Given the description of an element on the screen output the (x, y) to click on. 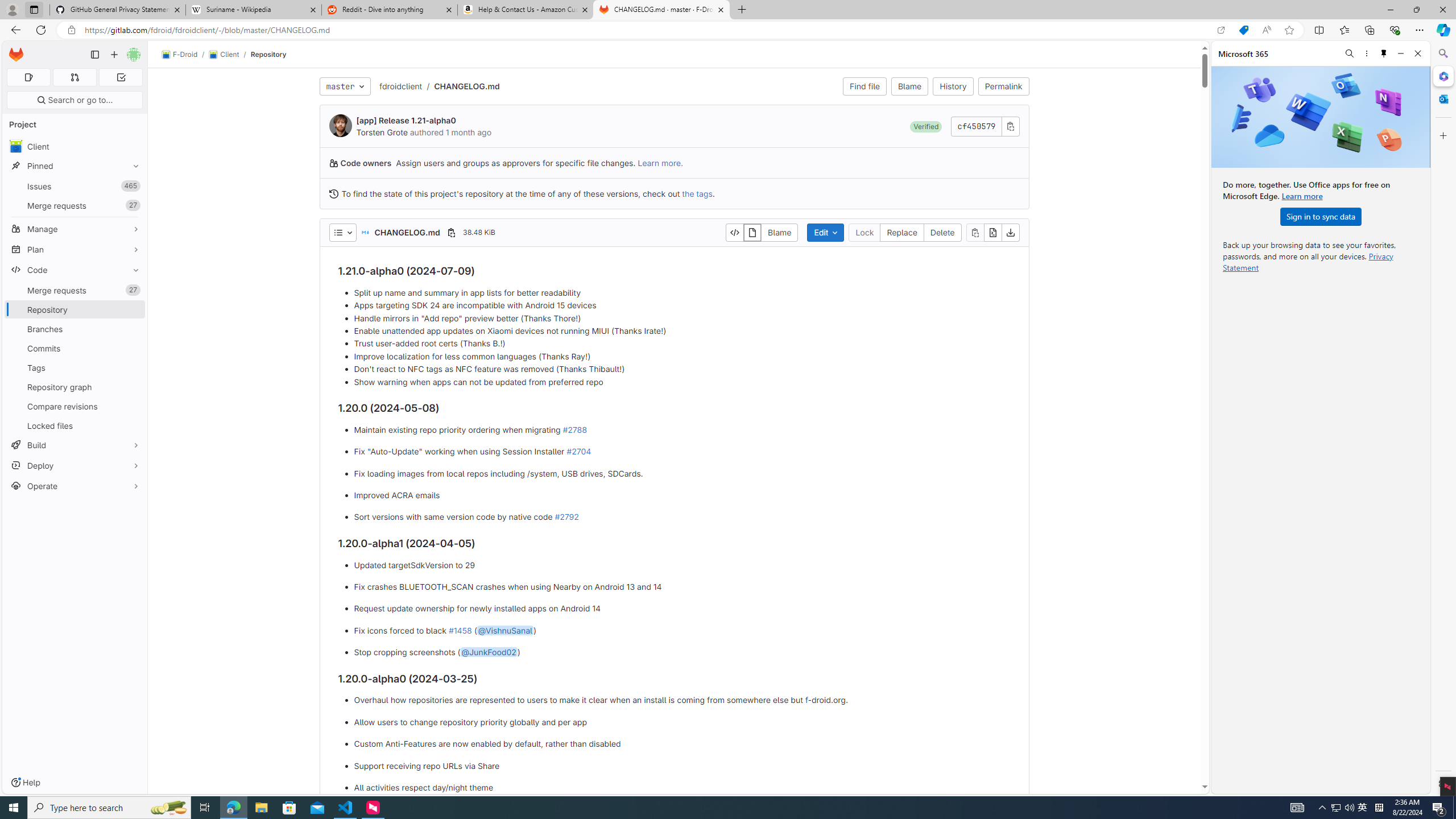
Client (74, 145)
GitHub General Privacy Statement - GitHub Docs (117, 9)
Stop cropping screenshots (@JunkFood02) (681, 652)
#2792 (566, 516)
Unpin Issues (132, 186)
Class: s16 gl-icon gl-button-icon  (1010, 126)
All activities respect day/night theme (681, 787)
Branches (74, 328)
Open raw (991, 232)
Blame (779, 232)
Build (74, 444)
